Given the description of an element on the screen output the (x, y) to click on. 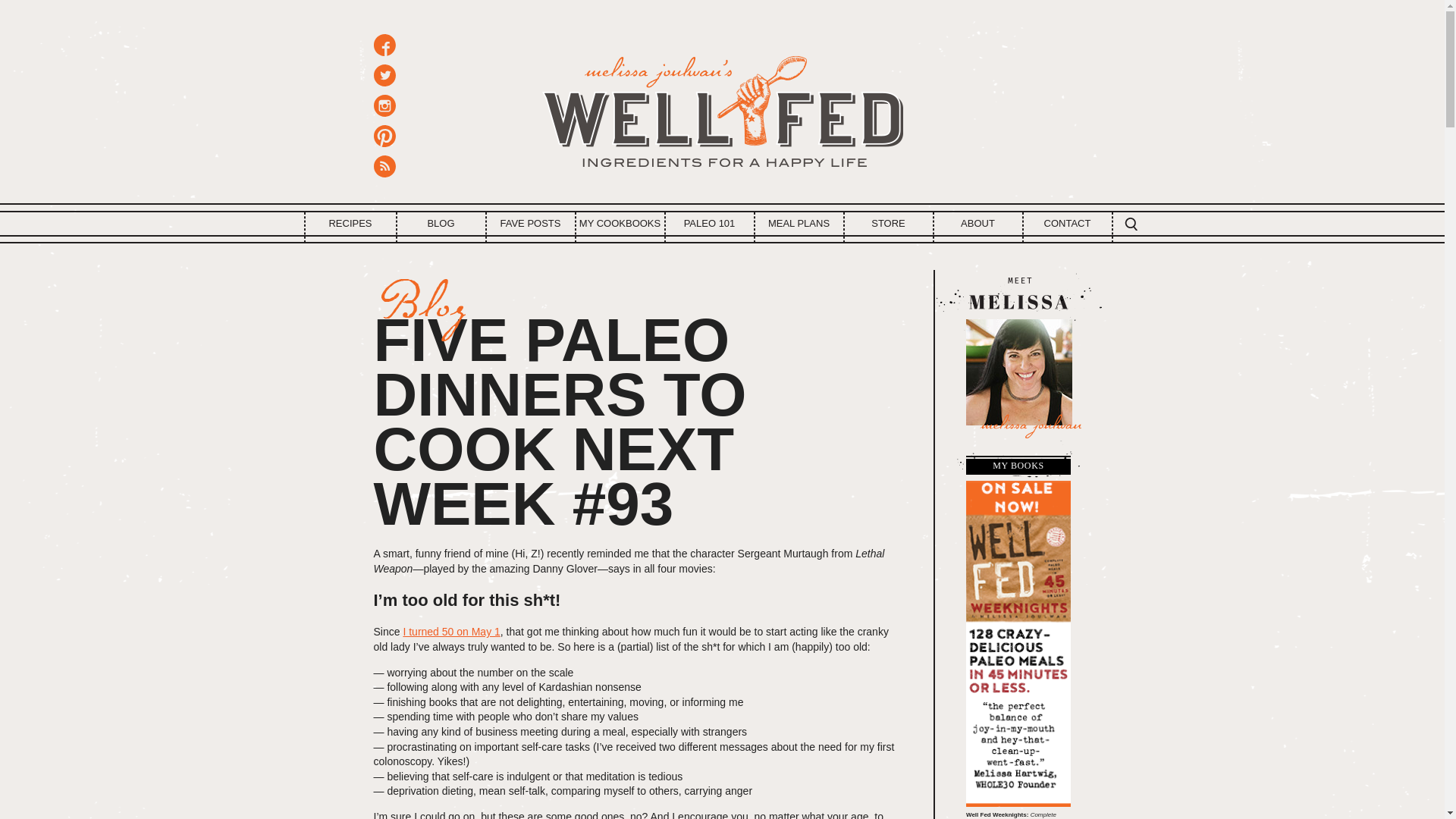
MY COOKBOOKS (619, 223)
RECIPES (349, 223)
MEAL PLANS (799, 223)
Melissa Joulwan's Well Fed - Ingredients for a Happy Life (721, 106)
BLOG (440, 223)
FAVE POSTS (530, 223)
CONTACT (1067, 223)
I turned 50 on May 1 (451, 631)
STORE (888, 223)
PALEO 101 (709, 223)
